Given the description of an element on the screen output the (x, y) to click on. 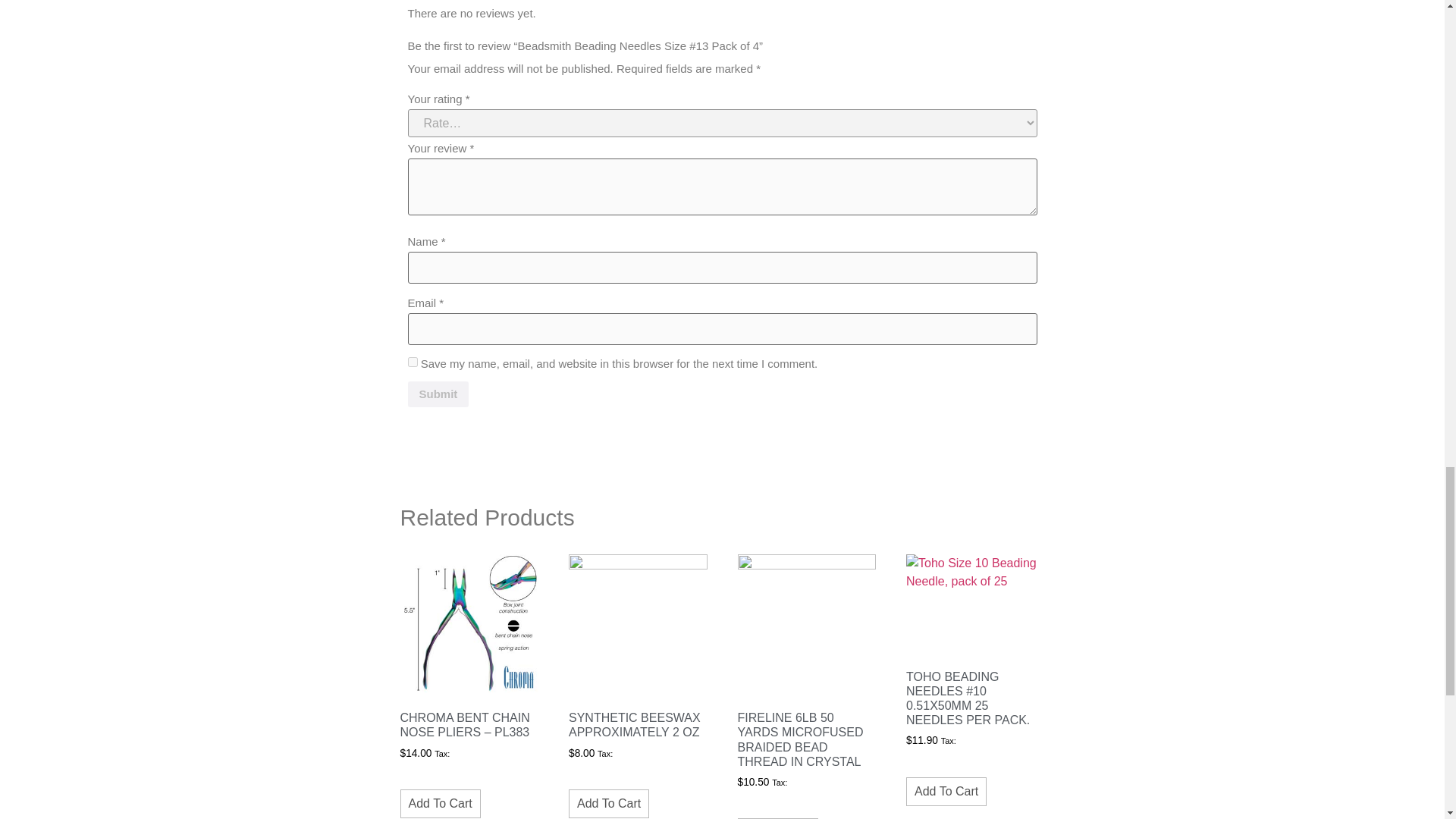
Submit (437, 394)
yes (412, 361)
